Given the description of an element on the screen output the (x, y) to click on. 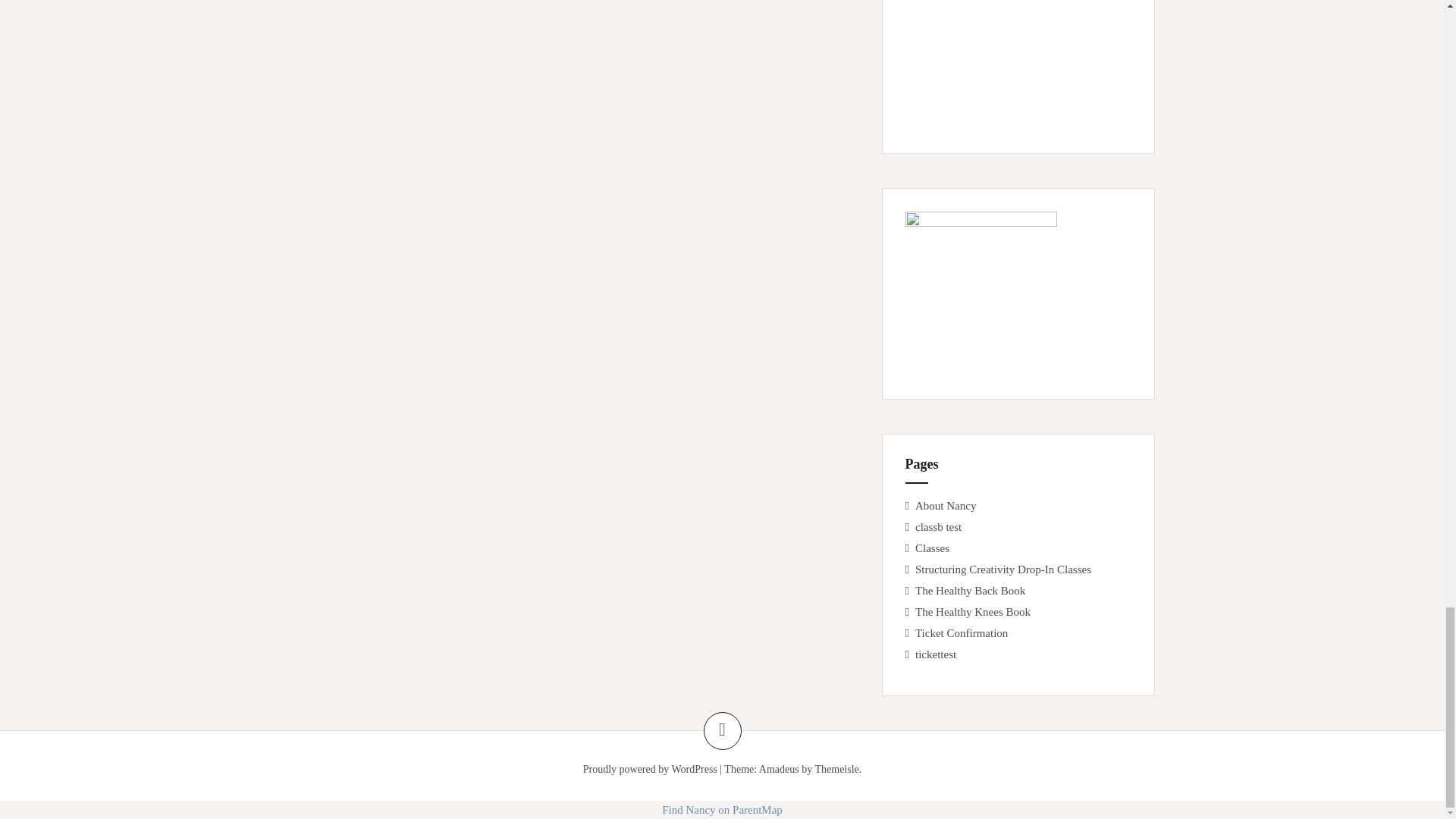
Classes (932, 548)
About Nancy (945, 505)
The Healthy Back Book (970, 590)
classb test (937, 526)
Structuring Creativity Drop-In Classes (1002, 569)
The Healthy Knees Book (972, 612)
